Given the description of an element on the screen output the (x, y) to click on. 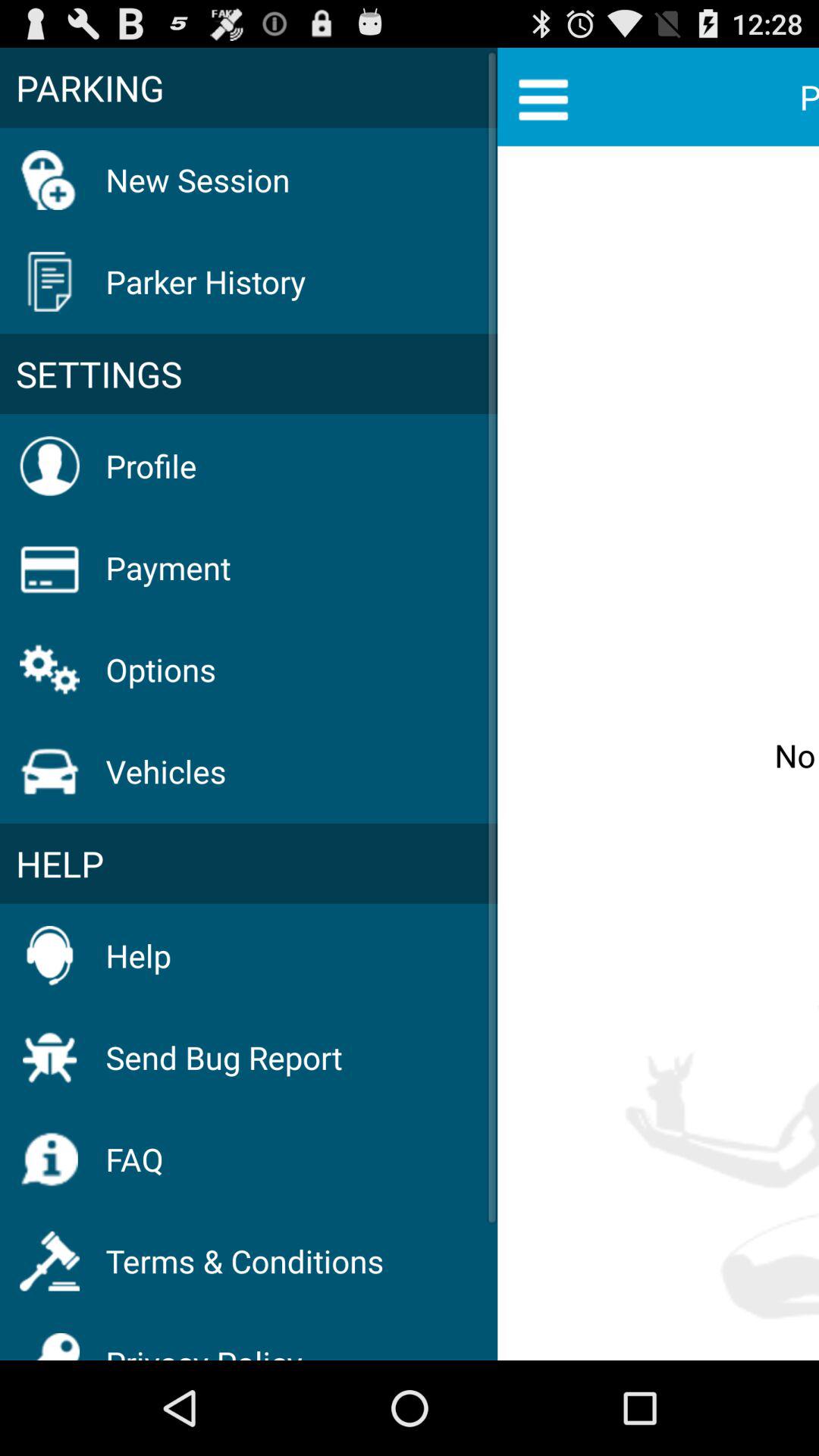
scroll until the send bug report icon (223, 1056)
